Given the description of an element on the screen output the (x, y) to click on. 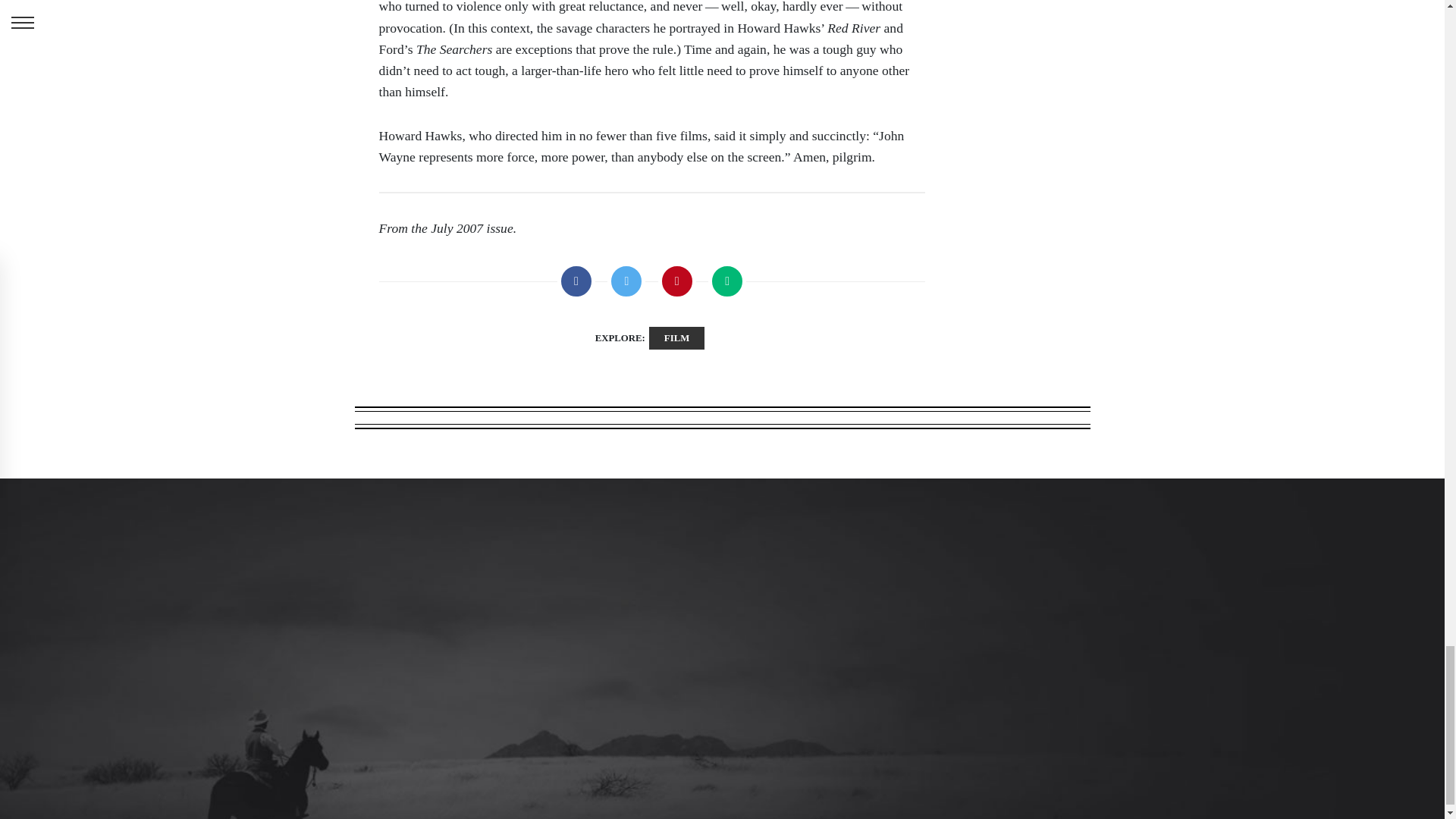
Share on Facebook (576, 281)
Share by Email (726, 281)
Tweet This Post (626, 281)
